Given the description of an element on the screen output the (x, y) to click on. 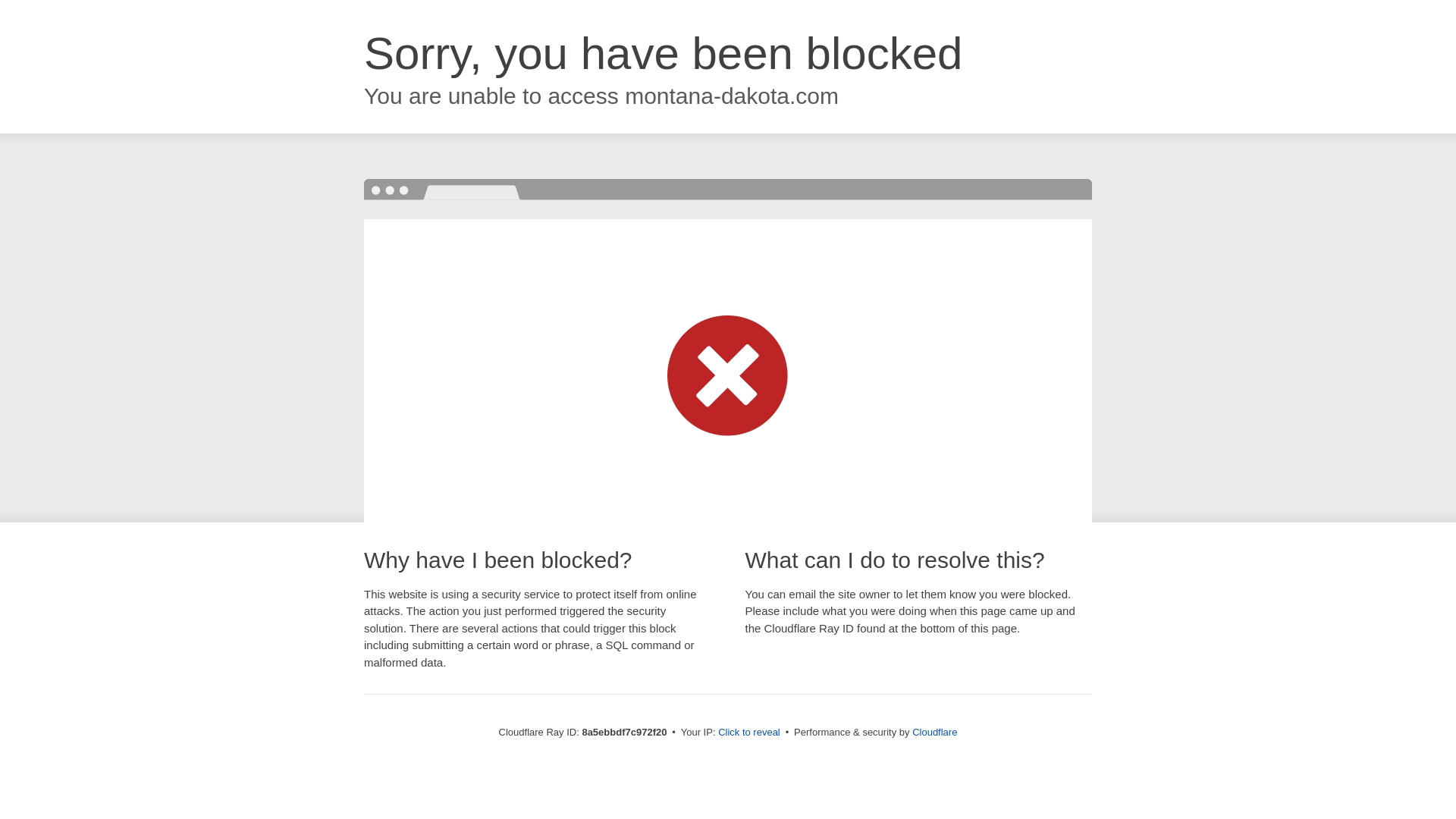
Click to reveal (748, 732)
Cloudflare (934, 731)
